Given the description of an element on the screen output the (x, y) to click on. 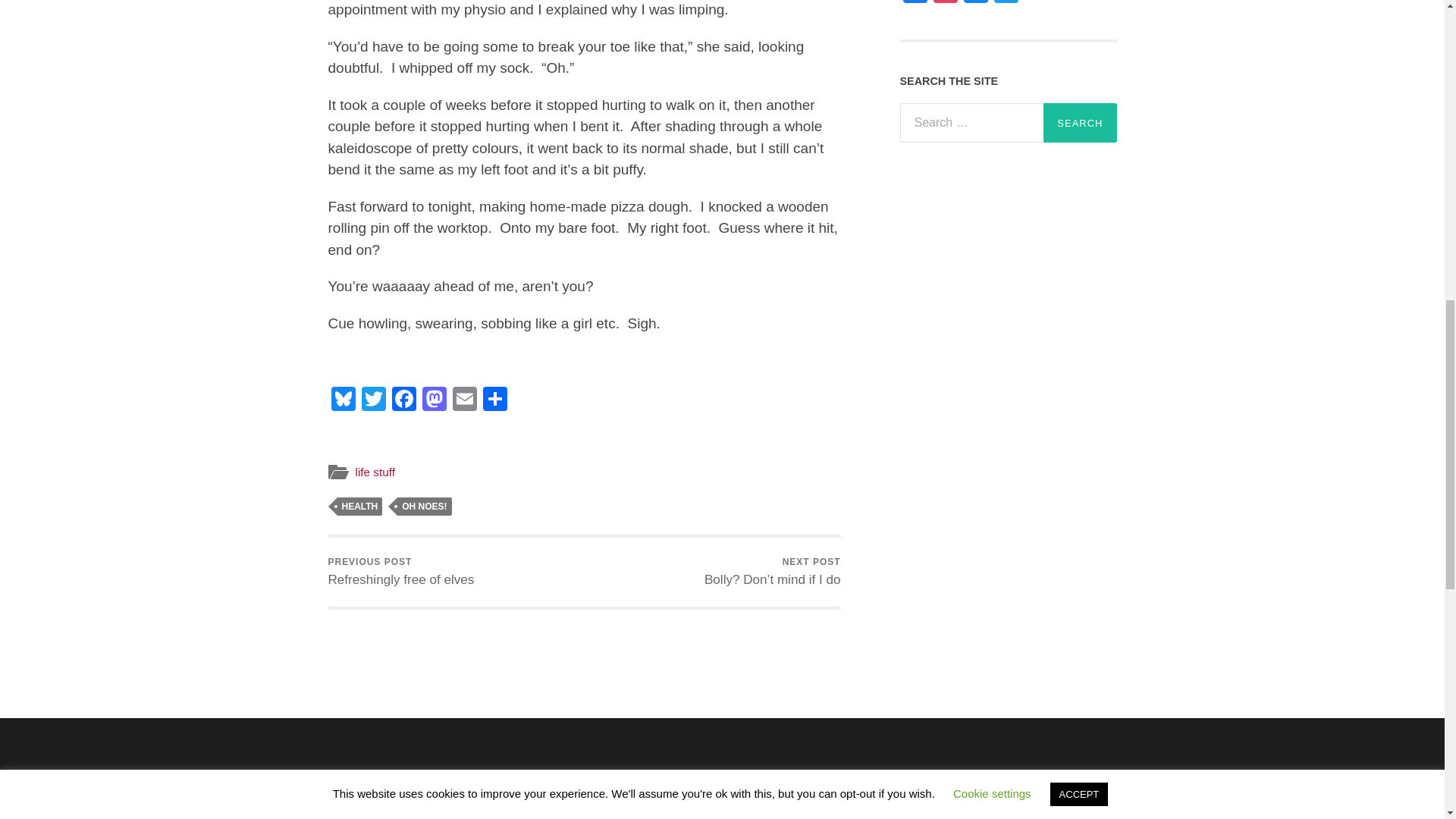
Bluesky (342, 400)
Facebook (403, 400)
Search (1079, 122)
Facebook (914, 3)
Mastodon (433, 400)
Bluesky (974, 3)
Twitter (1005, 3)
Email (463, 400)
Instagram (944, 3)
Search (1079, 122)
Twitter (373, 400)
